Given the description of an element on the screen output the (x, y) to click on. 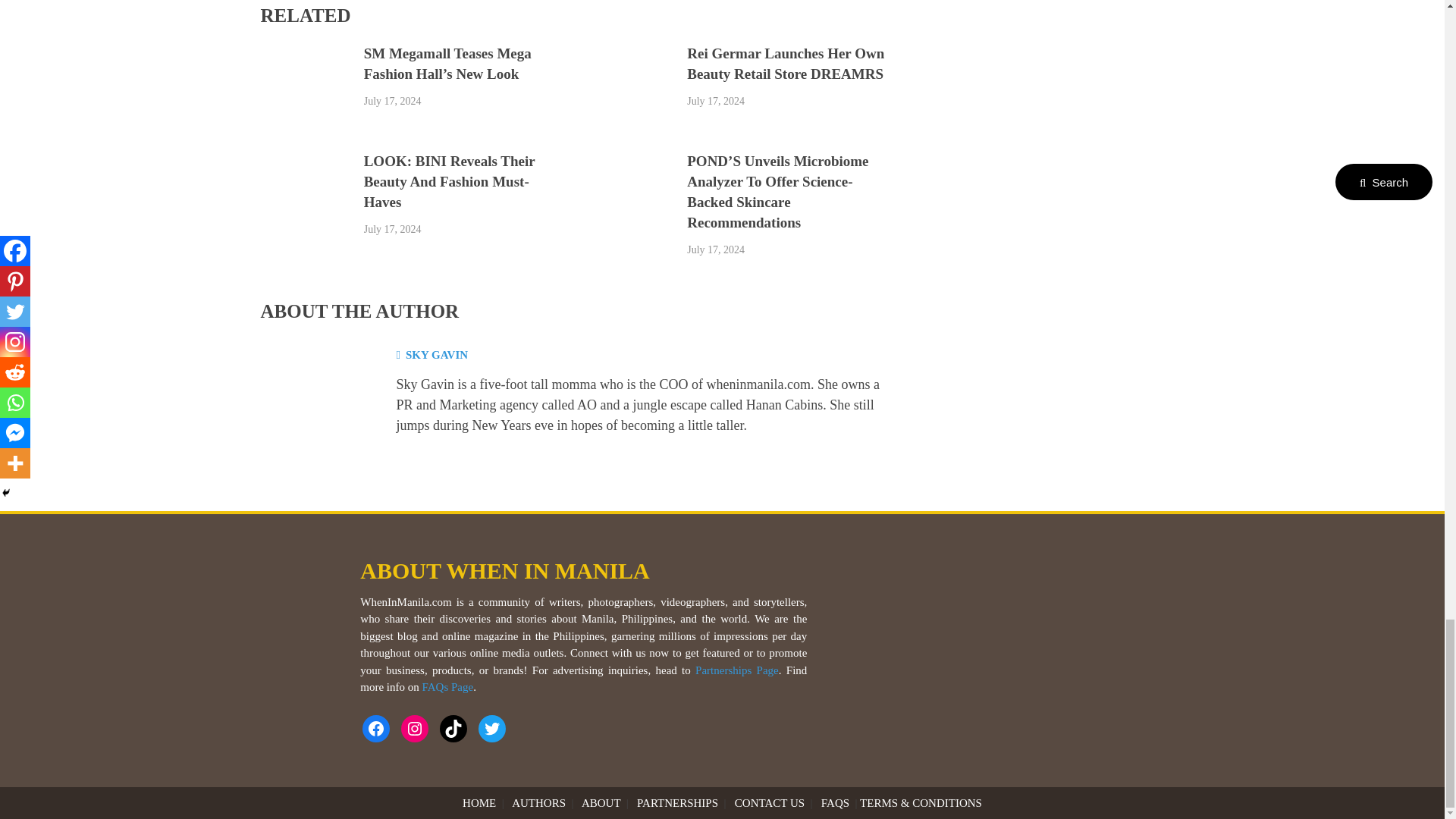
SM Megamall Teases Mega Fashion Hall's New Look 4 (305, 91)
